Given the description of an element on the screen output the (x, y) to click on. 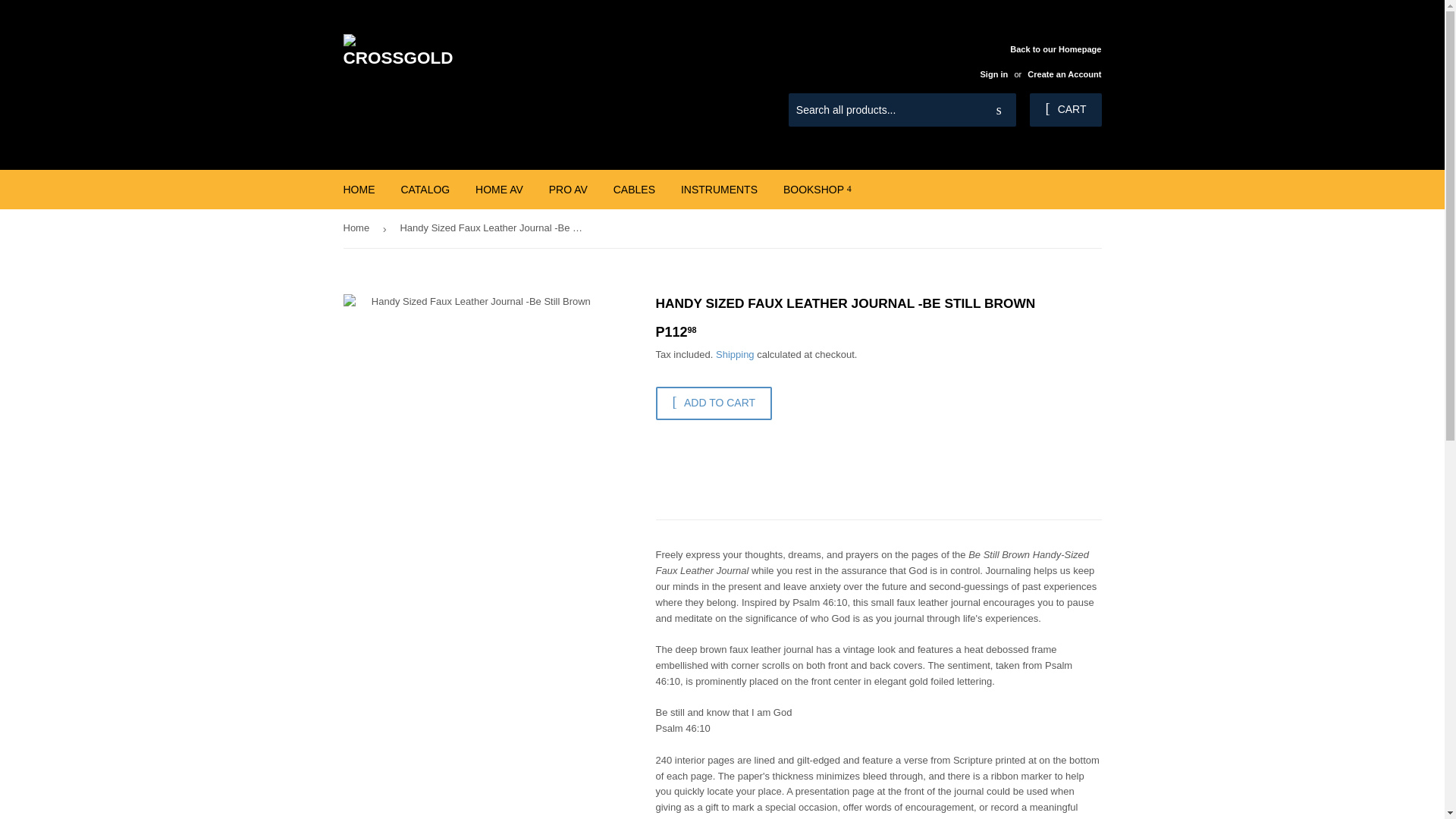
HOME AV (499, 189)
PRO AV (567, 189)
CATALOG (424, 189)
BOOKSHOP (817, 189)
Sign in (993, 73)
Back to our Homepage (1034, 60)
CABLES (634, 189)
Shipping (735, 354)
HOME (359, 189)
Search (998, 110)
CART (1064, 109)
INSTRUMENTS (718, 189)
Create an Account (1063, 73)
